Given the description of an element on the screen output the (x, y) to click on. 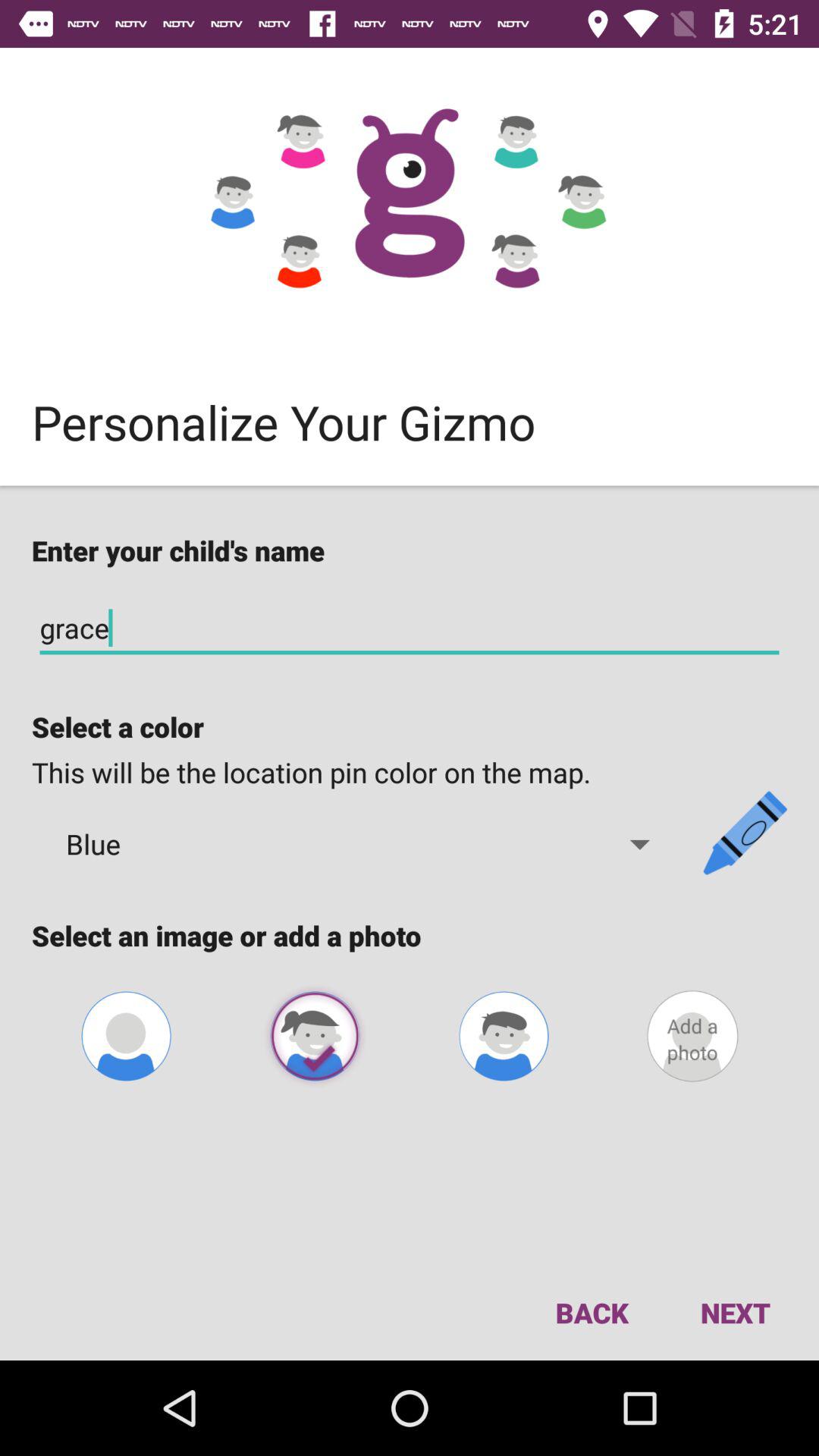
select this avatar (314, 1036)
